Given the description of an element on the screen output the (x, y) to click on. 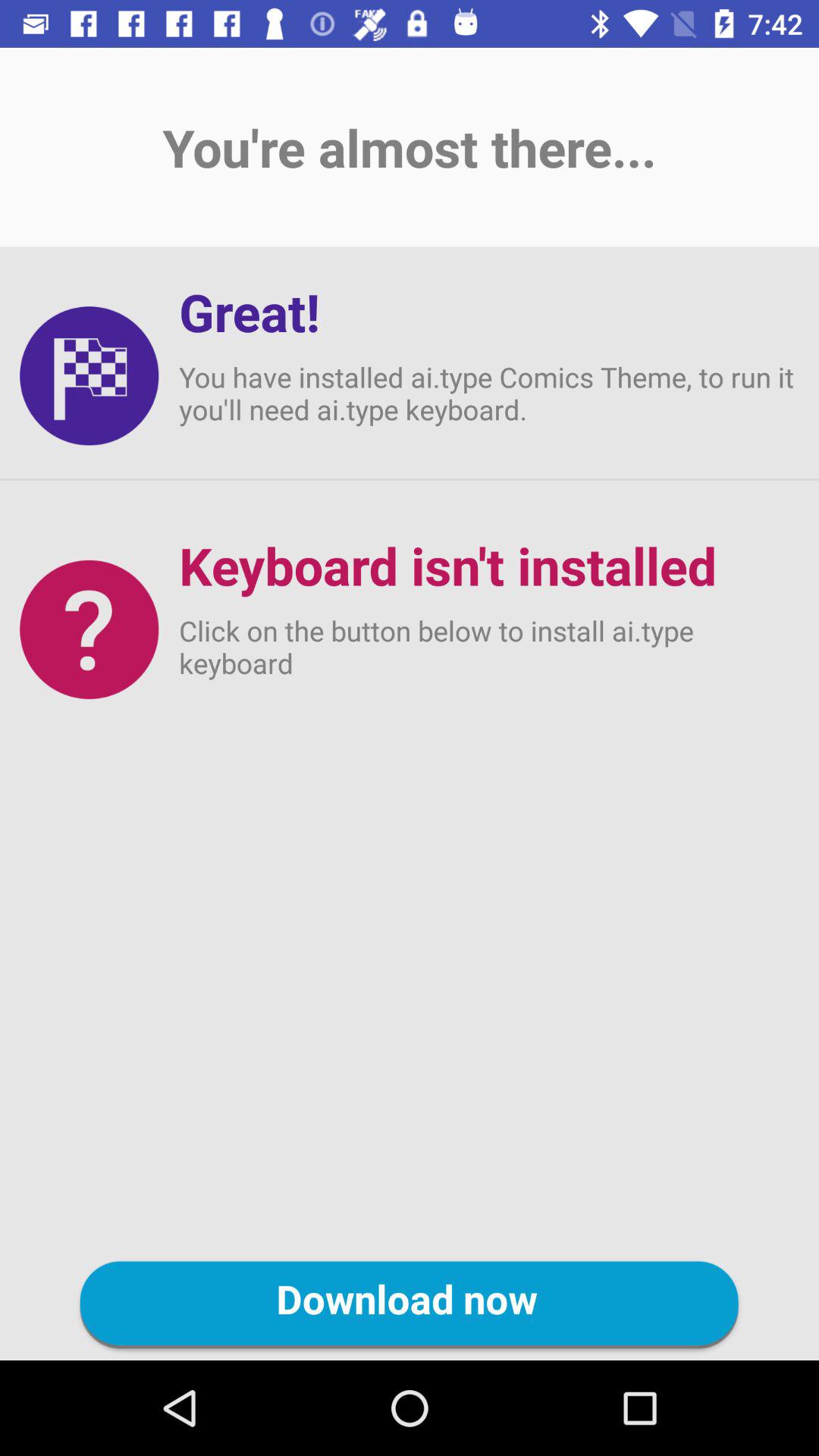
jump to the download now button (409, 1305)
